Given the description of an element on the screen output the (x, y) to click on. 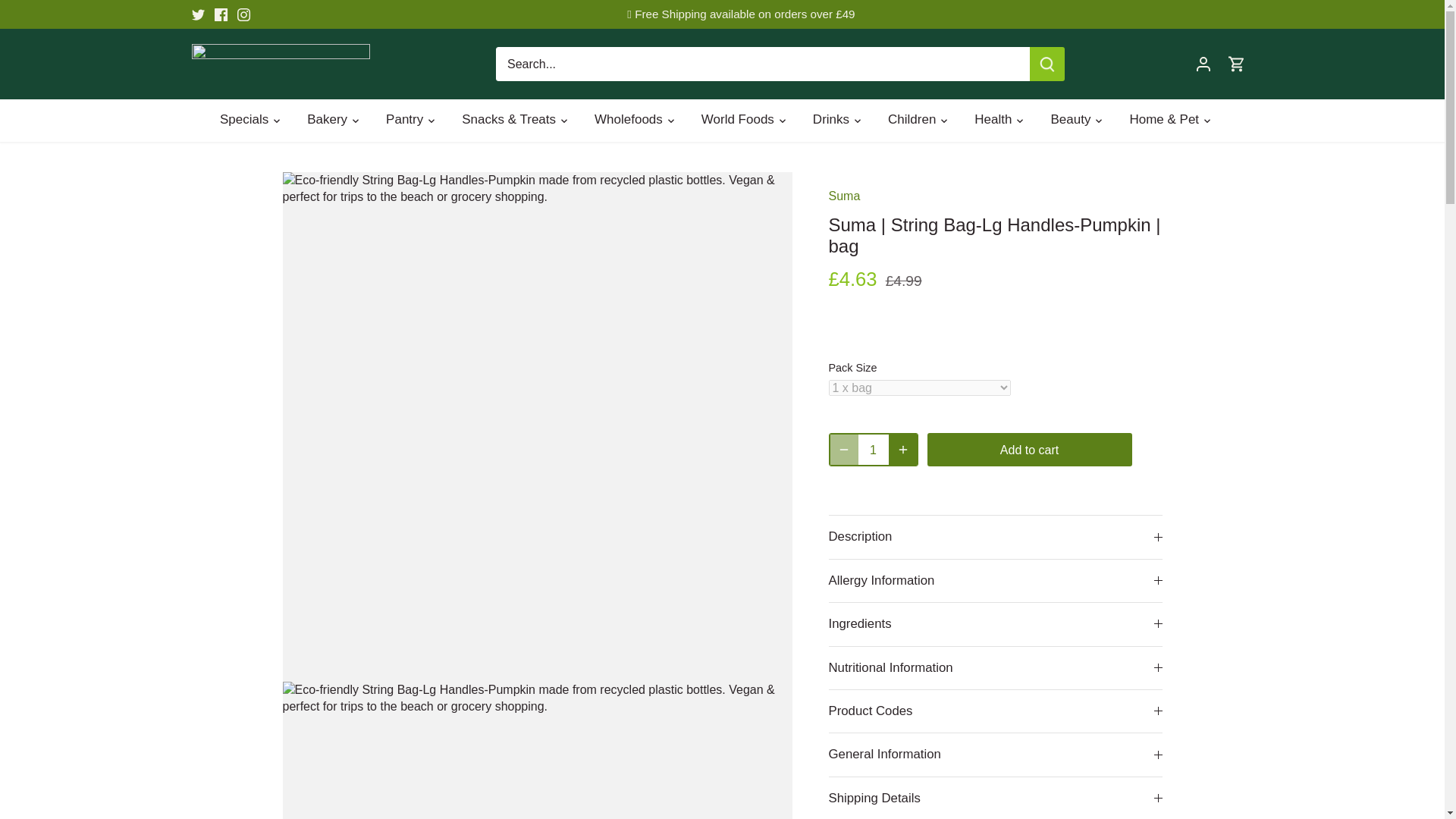
Specials (250, 120)
1 (873, 450)
Twitter (196, 14)
Bakery (326, 120)
Instagram (243, 14)
Facebook (220, 14)
